Given the description of an element on the screen output the (x, y) to click on. 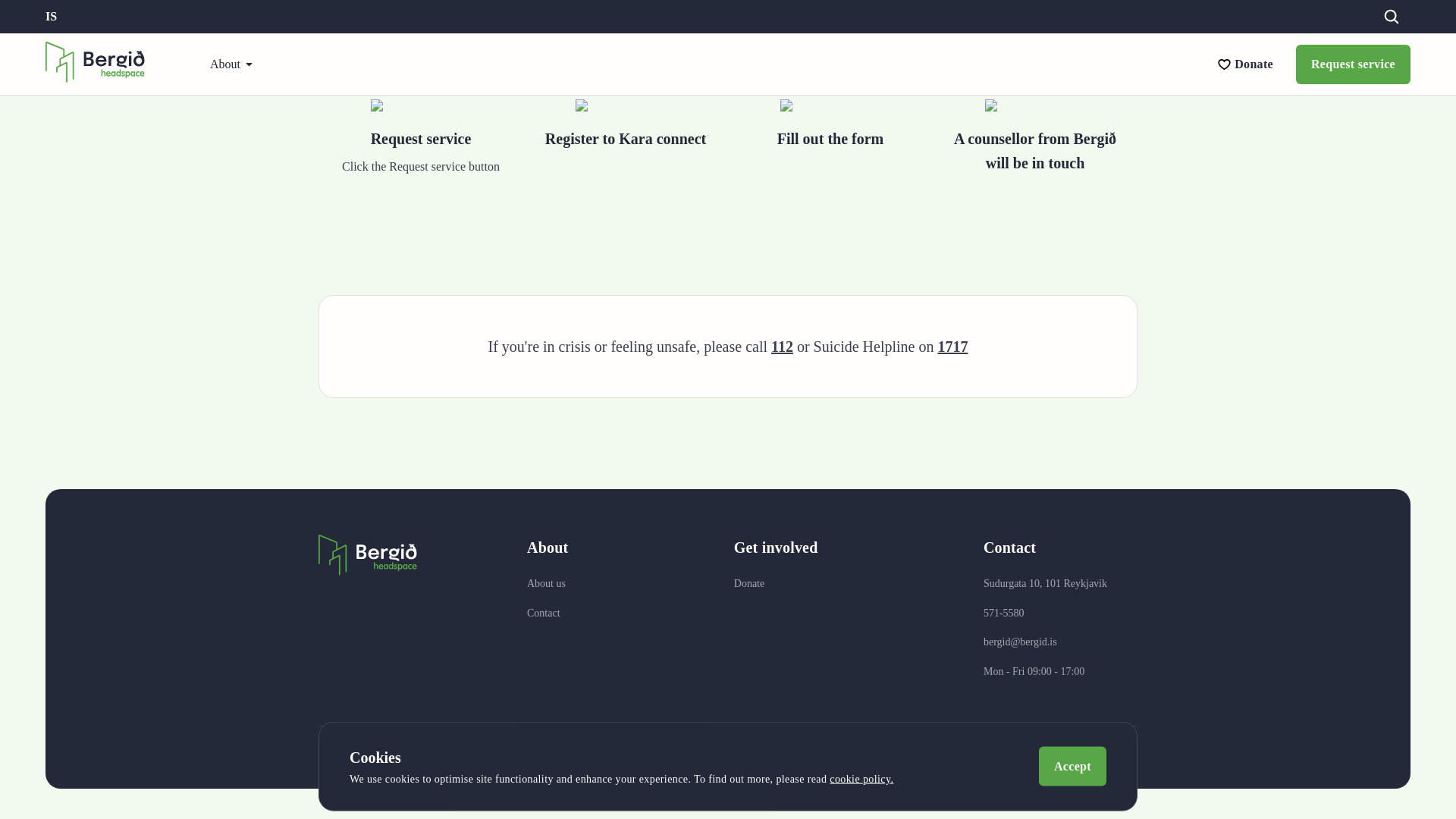
Cookies (804, 757)
Donate (775, 583)
Contact (547, 613)
About us (547, 583)
Privacy policy (724, 757)
Sudurgata 10, 101 Reykjavik (1045, 583)
1717 (952, 346)
112 (782, 346)
571-5580 (1045, 613)
